Given the description of an element on the screen output the (x, y) to click on. 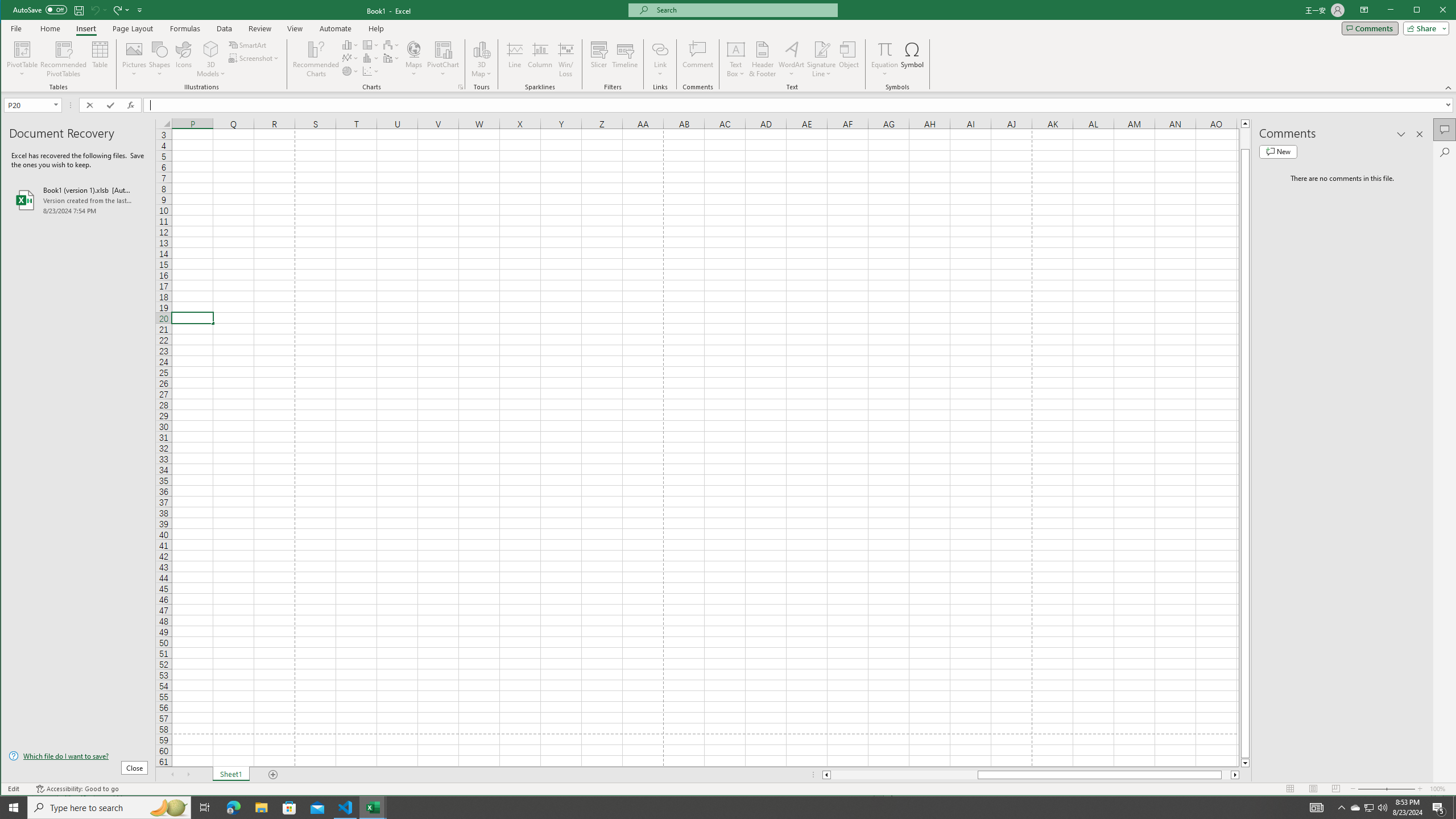
New comment (1278, 151)
Zoom (1386, 788)
Task View (204, 807)
Maximize (1432, 11)
Symbol... (912, 59)
PivotTable (22, 59)
WordArt (791, 59)
Insert Hierarchy Chart (371, 44)
Column right (1235, 774)
Link (659, 48)
Close pane (1419, 133)
